Given the description of an element on the screen output the (x, y) to click on. 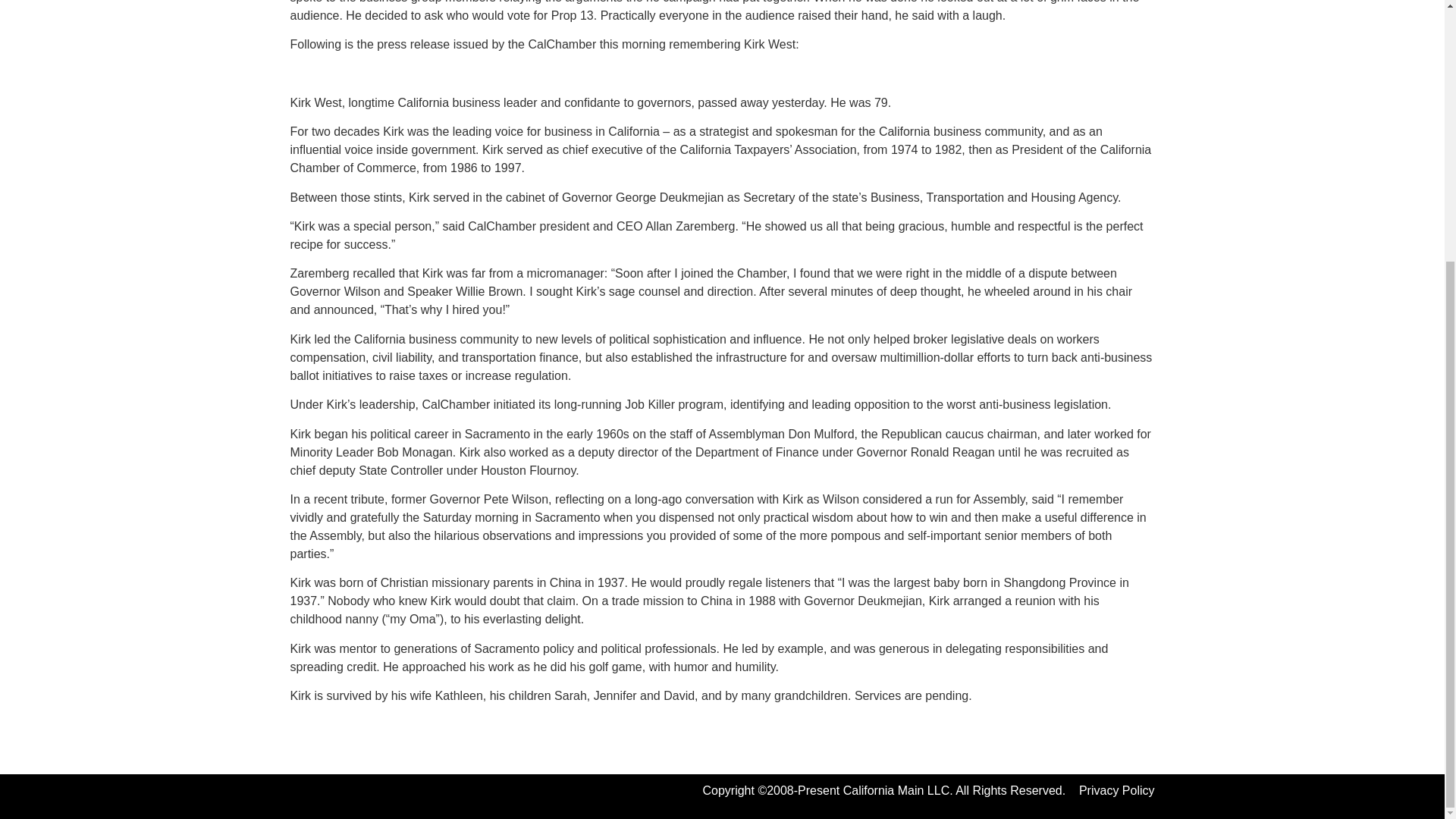
Privacy Policy (1116, 789)
